Given the description of an element on the screen output the (x, y) to click on. 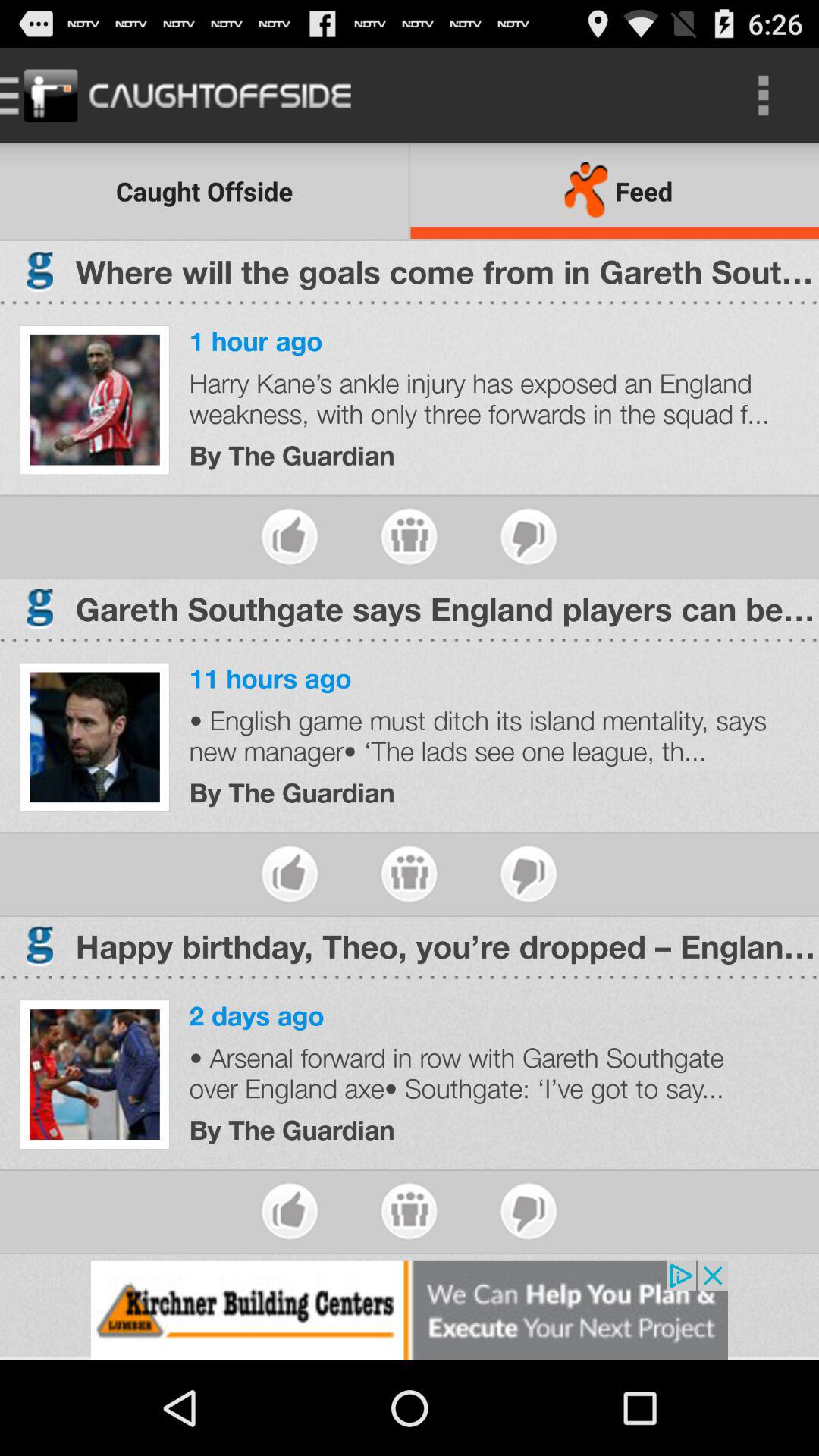
like the article (289, 1211)
